Given the description of an element on the screen output the (x, y) to click on. 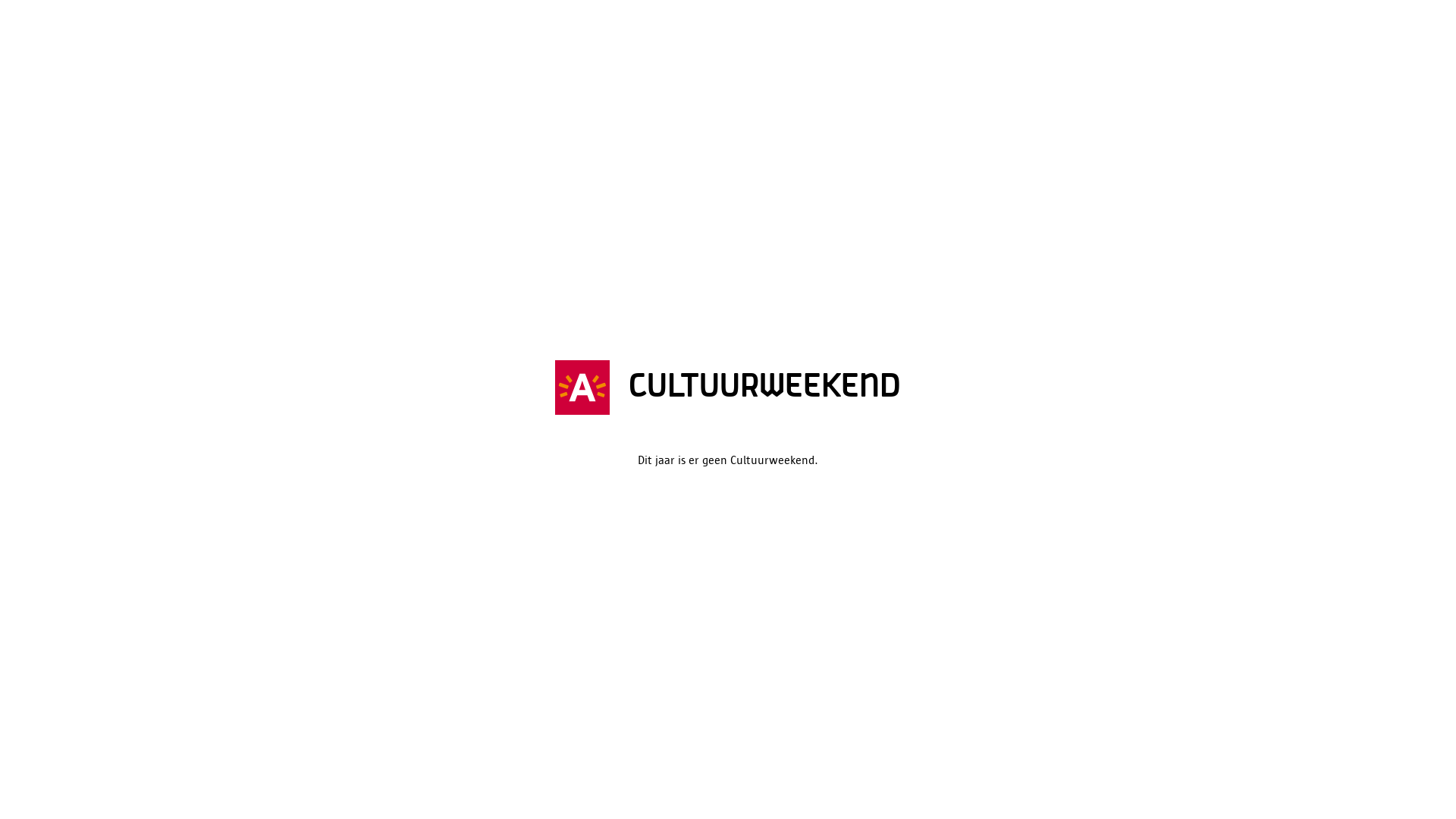
Overslaan en naar de inhoud gaan Element type: text (727, 1)
